Given the description of an element on the screen output the (x, y) to click on. 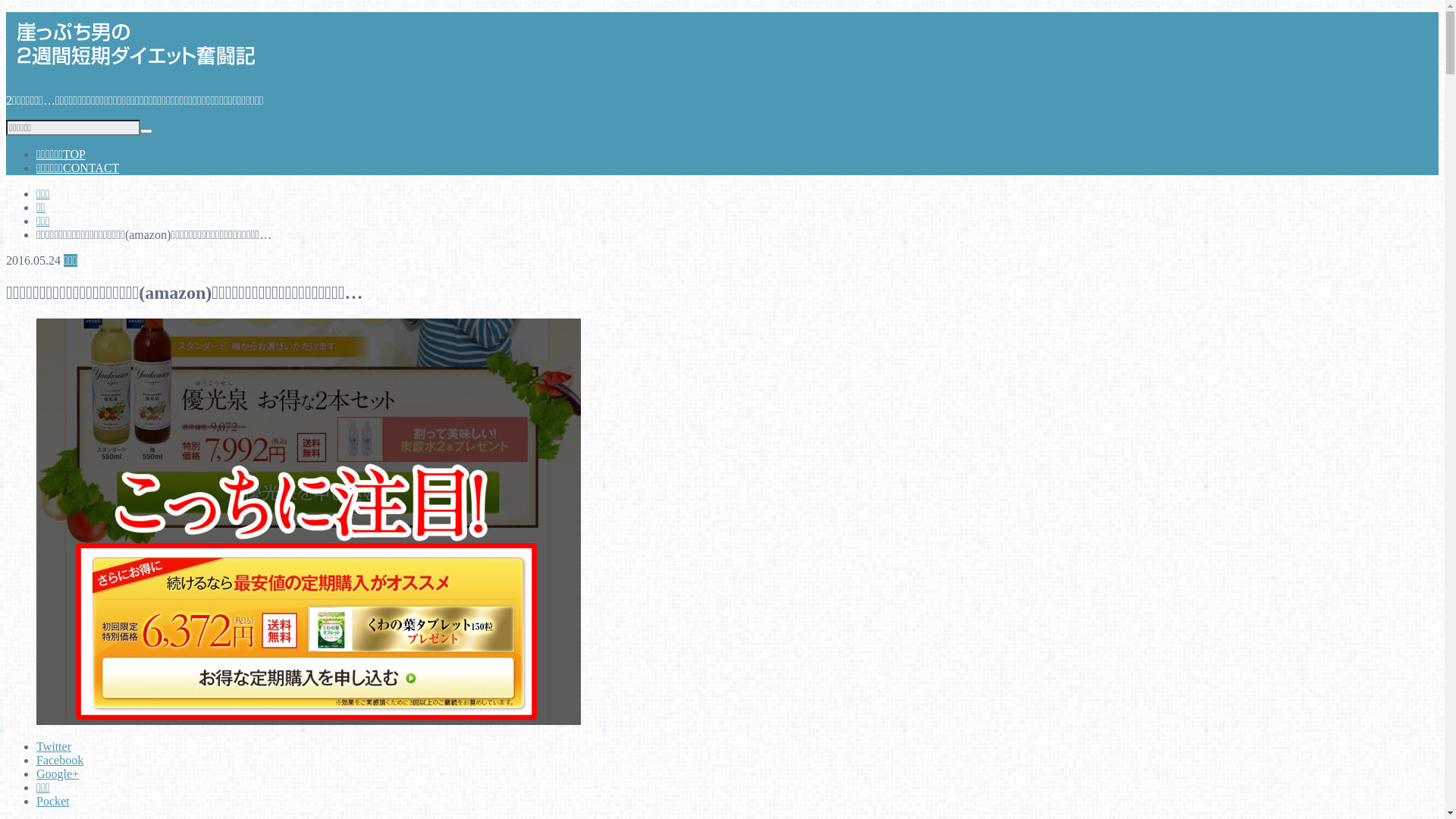
Twitter Element type: text (53, 746)
Facebook Element type: text (59, 759)
Google+ Element type: text (57, 773)
Pocket Element type: text (52, 800)
